Given the description of an element on the screen output the (x, y) to click on. 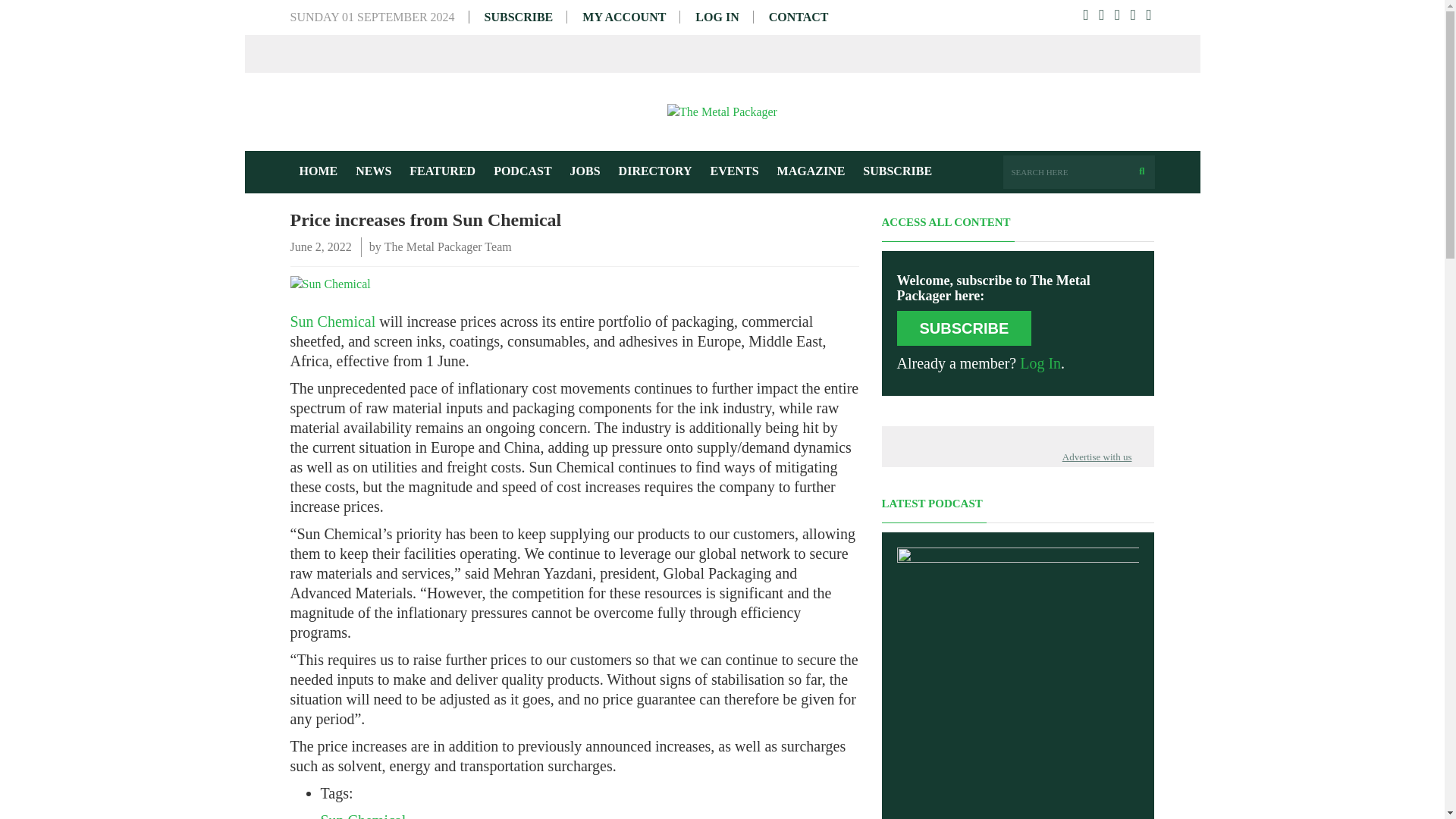
FEATURED (442, 170)
Jobs (585, 170)
Podcast (522, 170)
EVENTS (734, 170)
Sun Chemical (332, 321)
Posts by The Metal Packager Team (448, 247)
MY ACCOUNT (623, 16)
DIRECTORY (655, 170)
CONTACT (798, 16)
Magazine (811, 170)
